Given the description of an element on the screen output the (x, y) to click on. 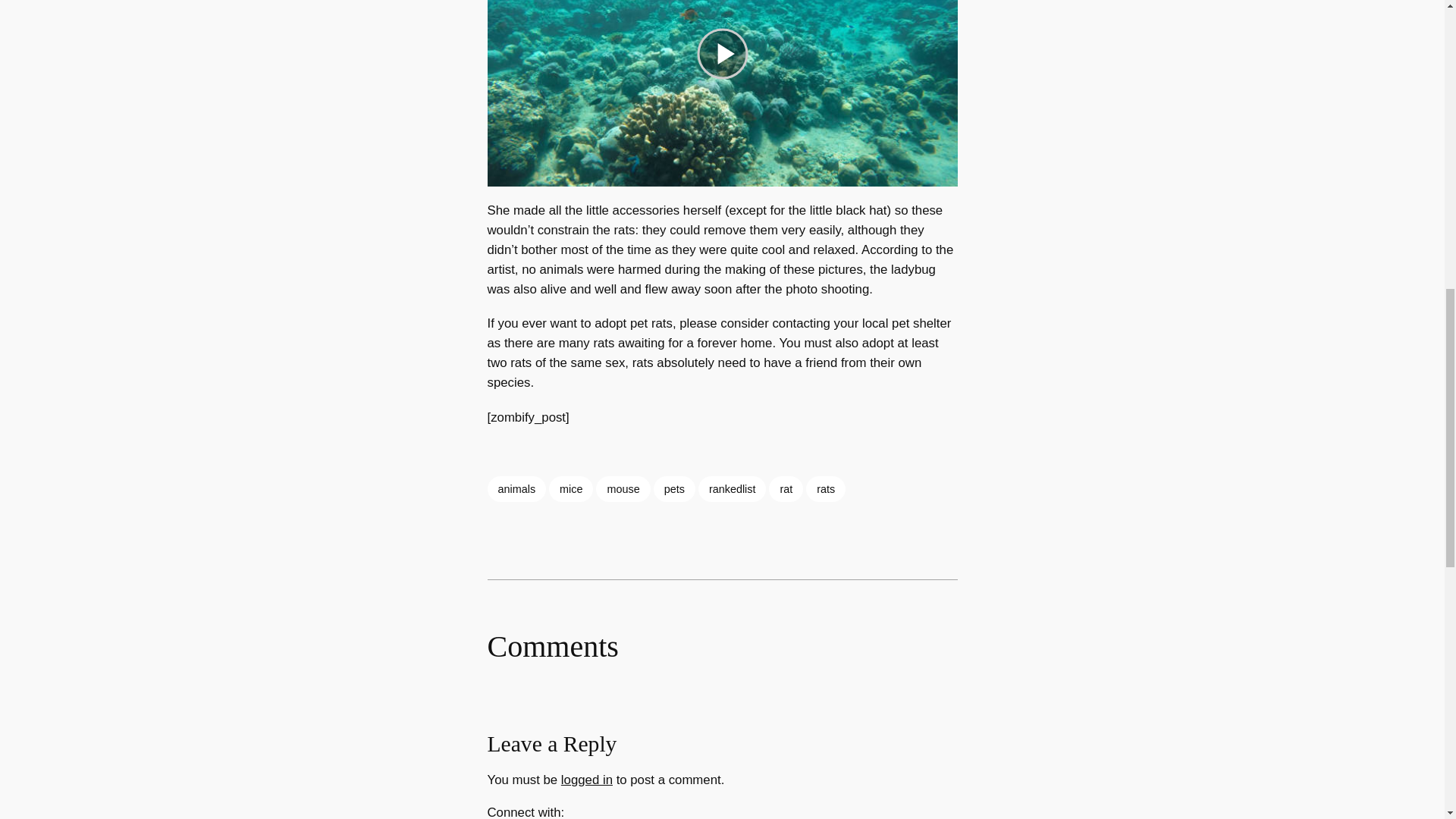
animals (516, 488)
rat (785, 488)
rats (825, 488)
logged in (586, 780)
pets (674, 488)
mouse (622, 488)
mice (570, 488)
rankedlist (732, 488)
